Given the description of an element on the screen output the (x, y) to click on. 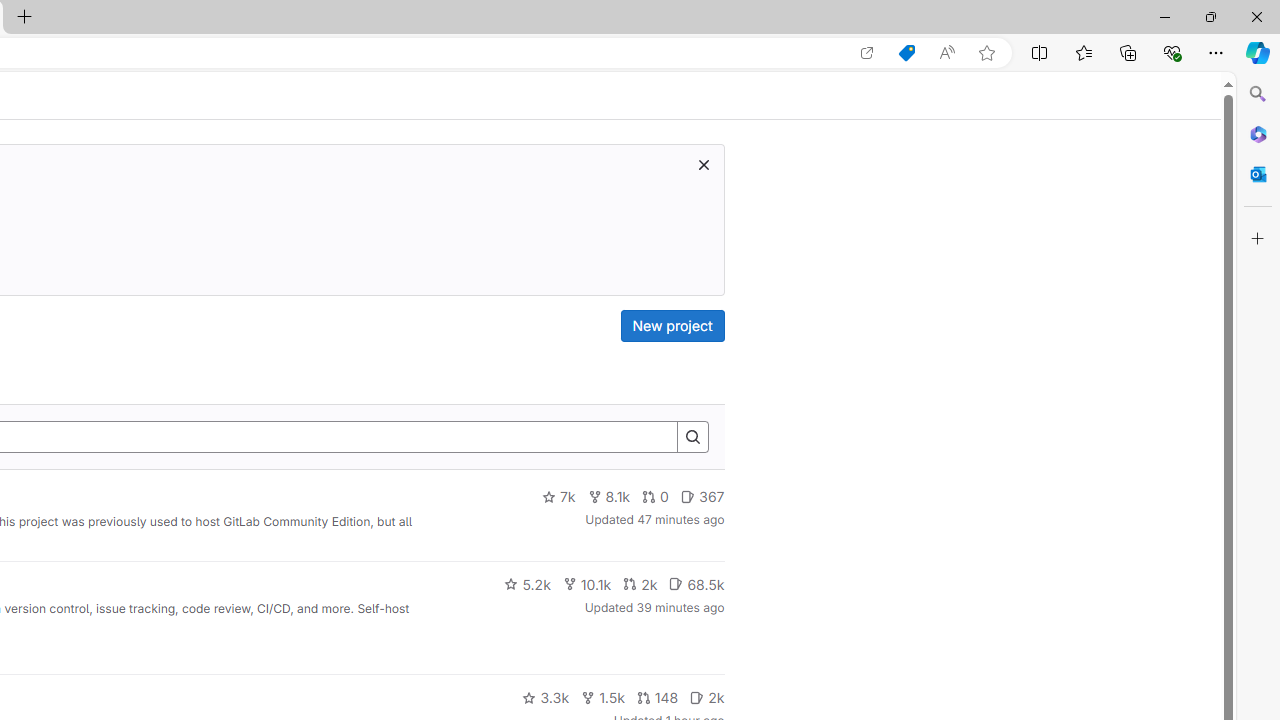
Class: s14 gl-mr-2 (697, 696)
5.2k (527, 583)
7k (558, 497)
367 (701, 497)
2k (706, 697)
8.1k (609, 497)
10.1k (586, 583)
148 (657, 697)
68.5k (696, 583)
0 (655, 497)
1.5k (602, 697)
